Given the description of an element on the screen output the (x, y) to click on. 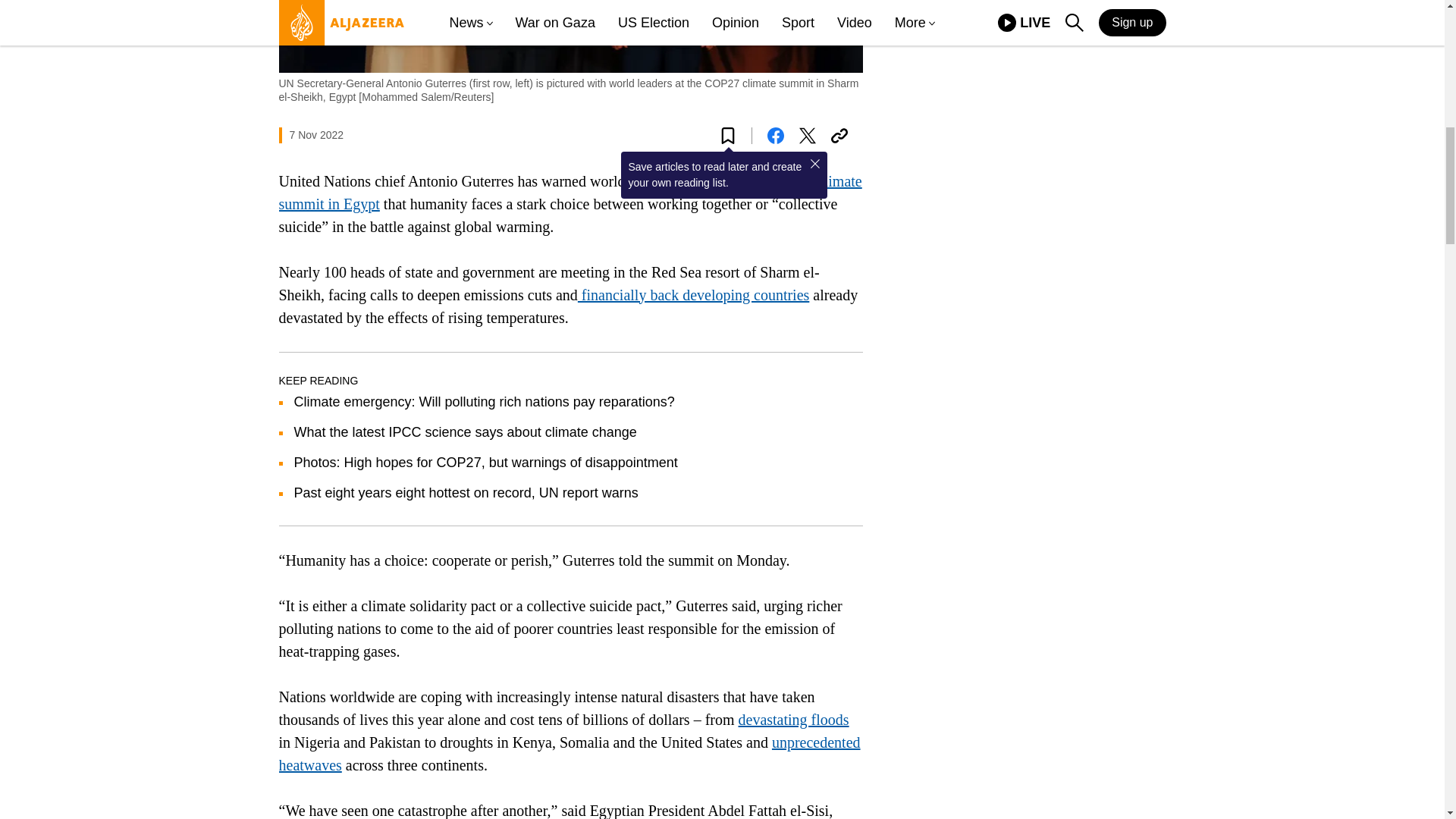
facebook (775, 135)
facebook (775, 135)
Close Tooltip (814, 163)
copylink (839, 135)
copylink (839, 135)
twitter (807, 135)
COP27 climate summit in Egypt (570, 192)
twitter (807, 135)
